Given the description of an element on the screen output the (x, y) to click on. 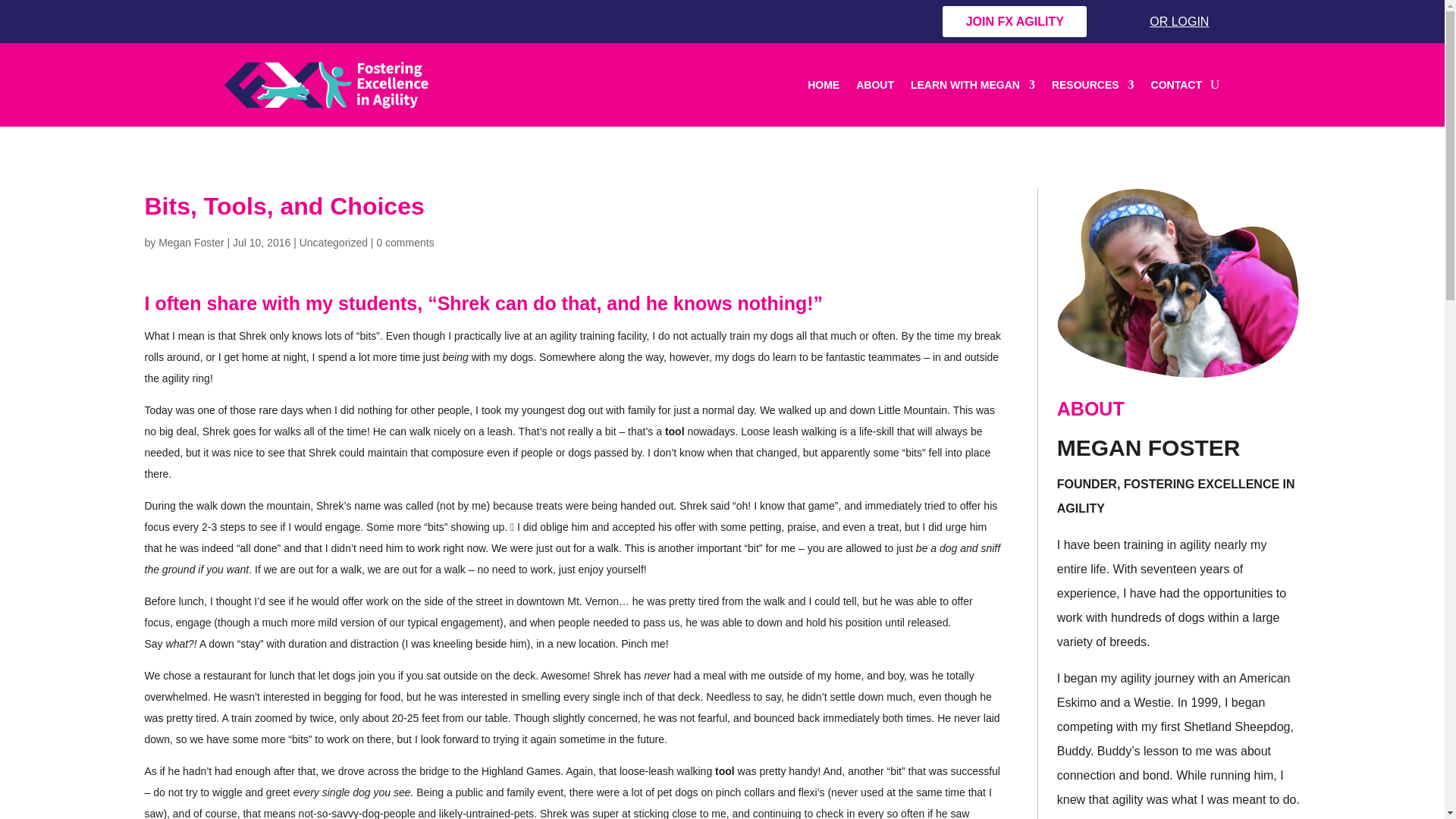
Megan Foster (191, 242)
0 comments (404, 242)
Posts by Megan Foster (191, 242)
OR LOGIN (1166, 20)
Uncategorized (333, 242)
RESOURCES (1092, 84)
LEARN WITH MEGAN (973, 84)
JOIN FX AGILITY (1014, 20)
